Given the description of an element on the screen output the (x, y) to click on. 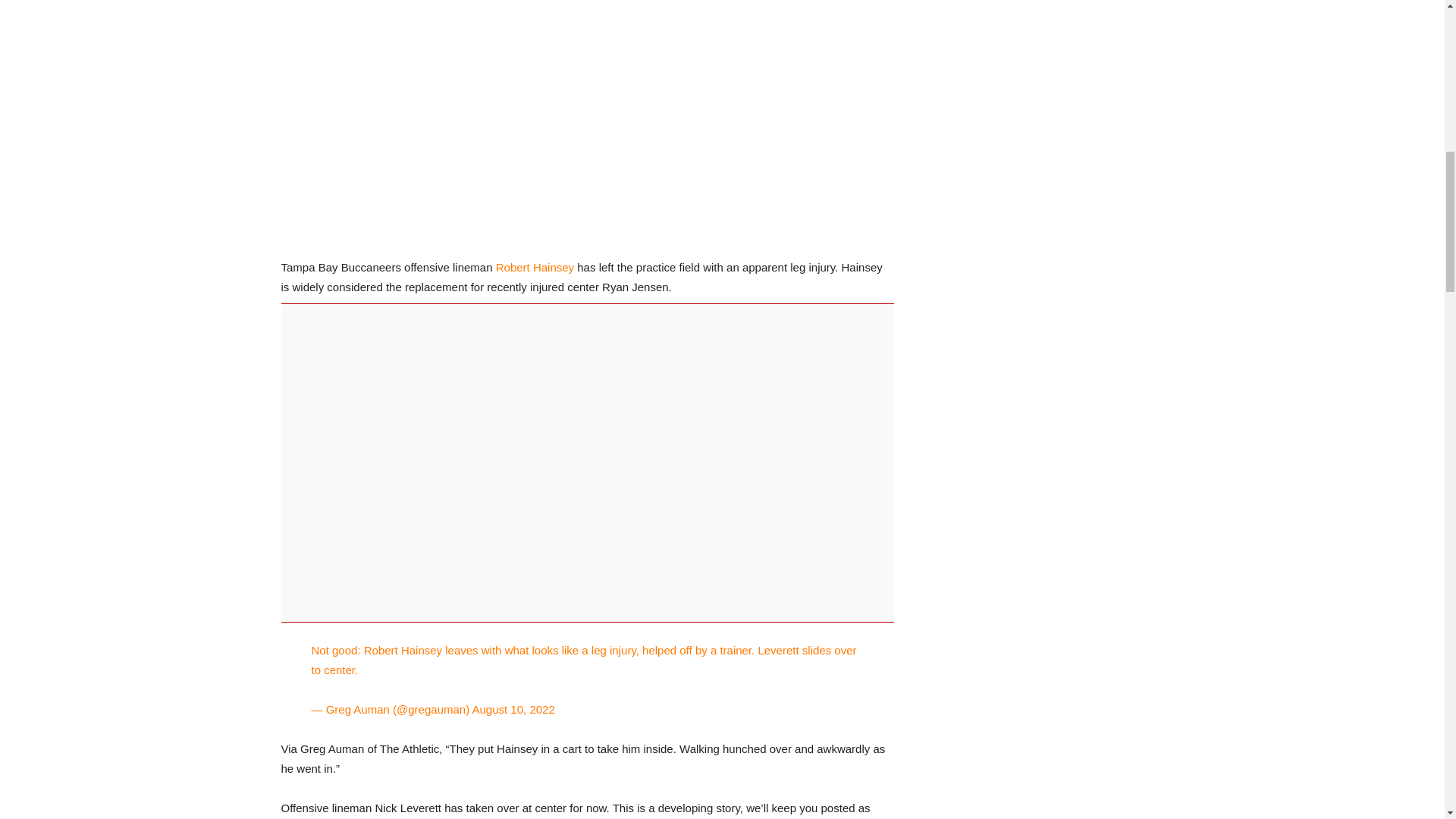
August 10, 2022 (512, 708)
Robert Hainsey (534, 267)
